Given the description of an element on the screen output the (x, y) to click on. 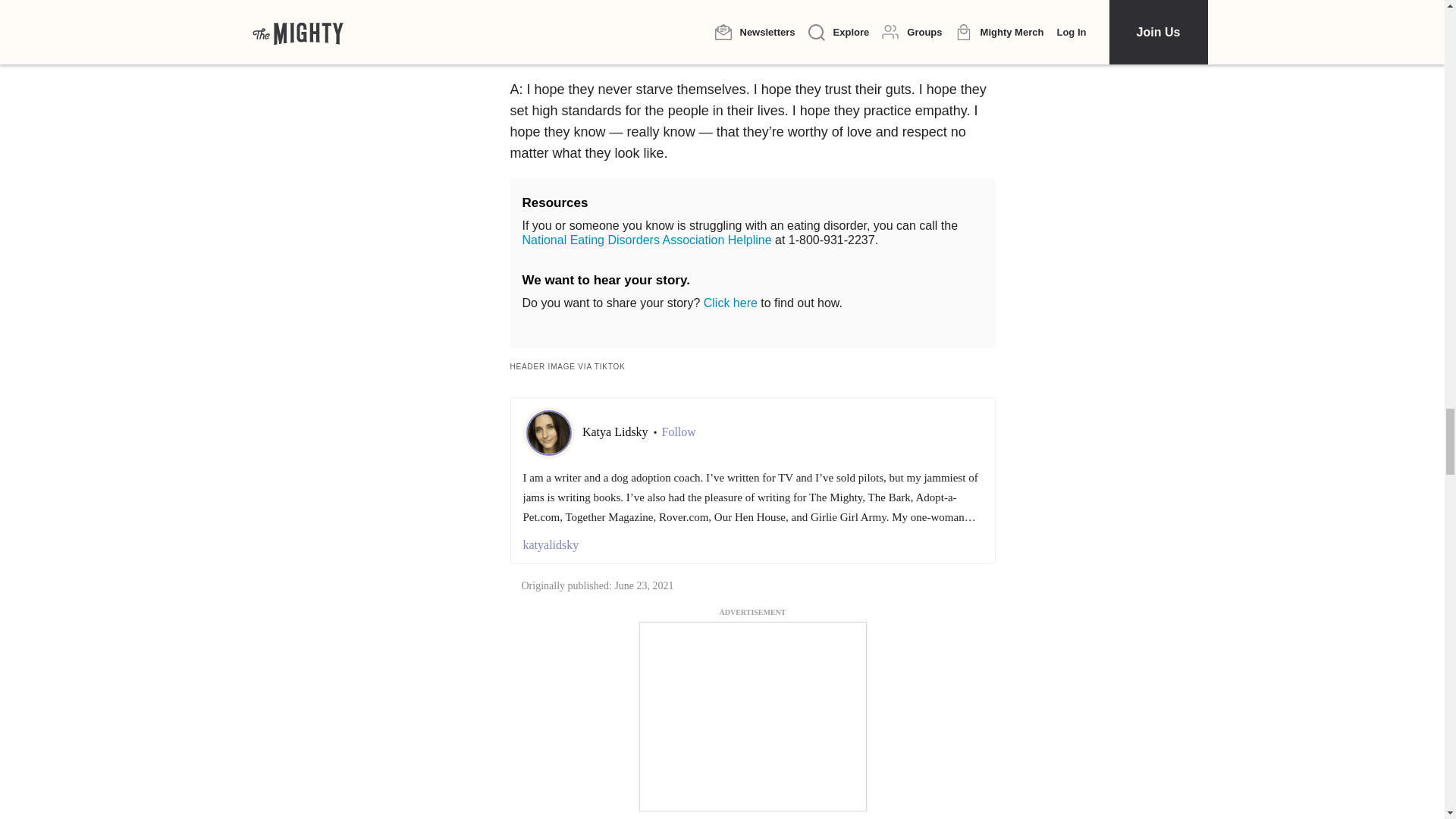
National Eating Disorders Association Helpline (646, 239)
Click here (730, 302)
Katya Lidsky (616, 431)
